Given the description of an element on the screen output the (x, y) to click on. 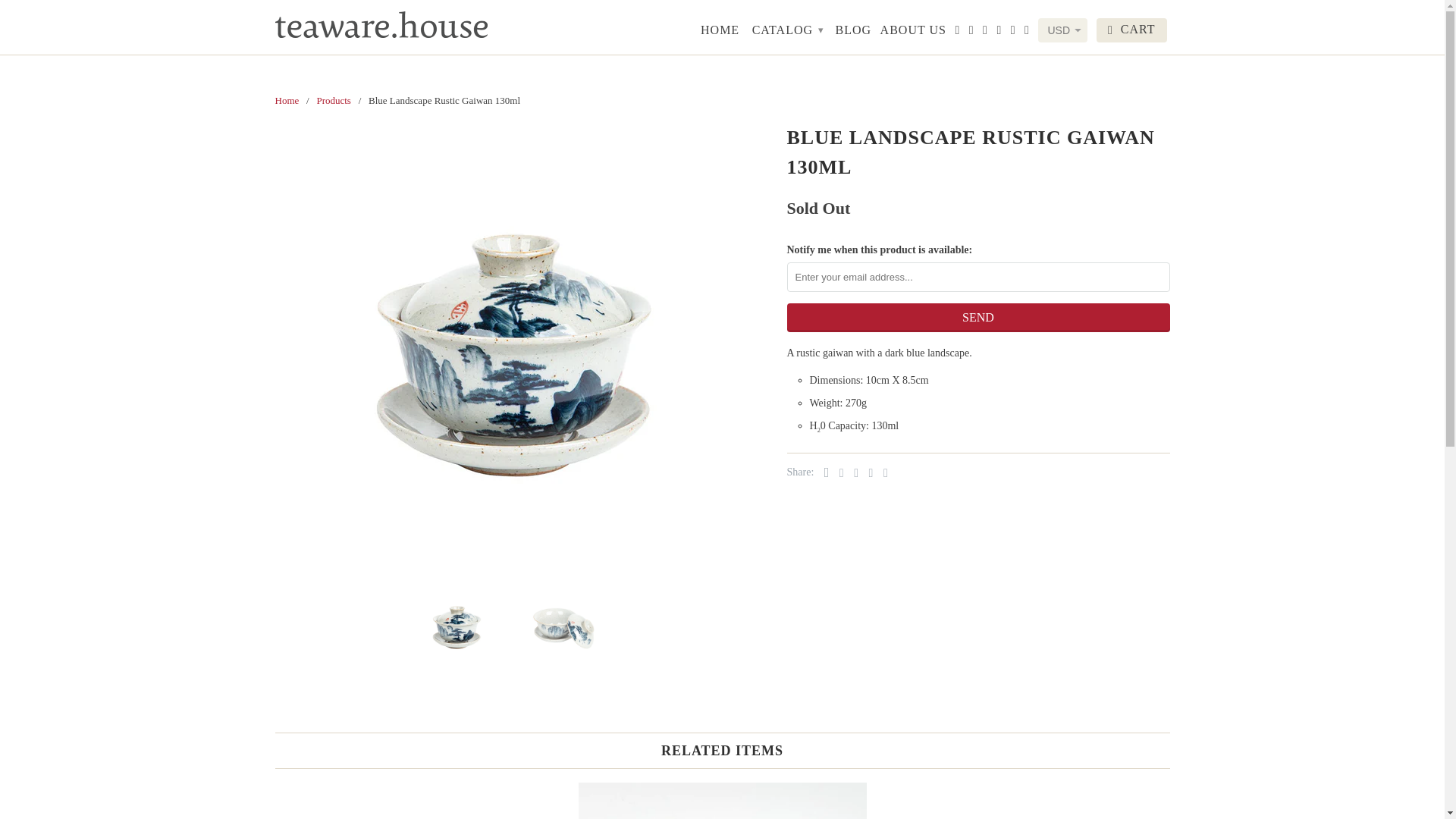
BLOG (853, 33)
teawarehouse (286, 100)
Email this to a friend (882, 472)
Share this on Facebook (837, 472)
Weights and water capacity are approximate (837, 402)
Products (332, 100)
ABOUT US (913, 33)
HOME (719, 33)
Share this on Pinterest (852, 472)
Send (978, 317)
teawarehouse (380, 24)
